Given the description of an element on the screen output the (x, y) to click on. 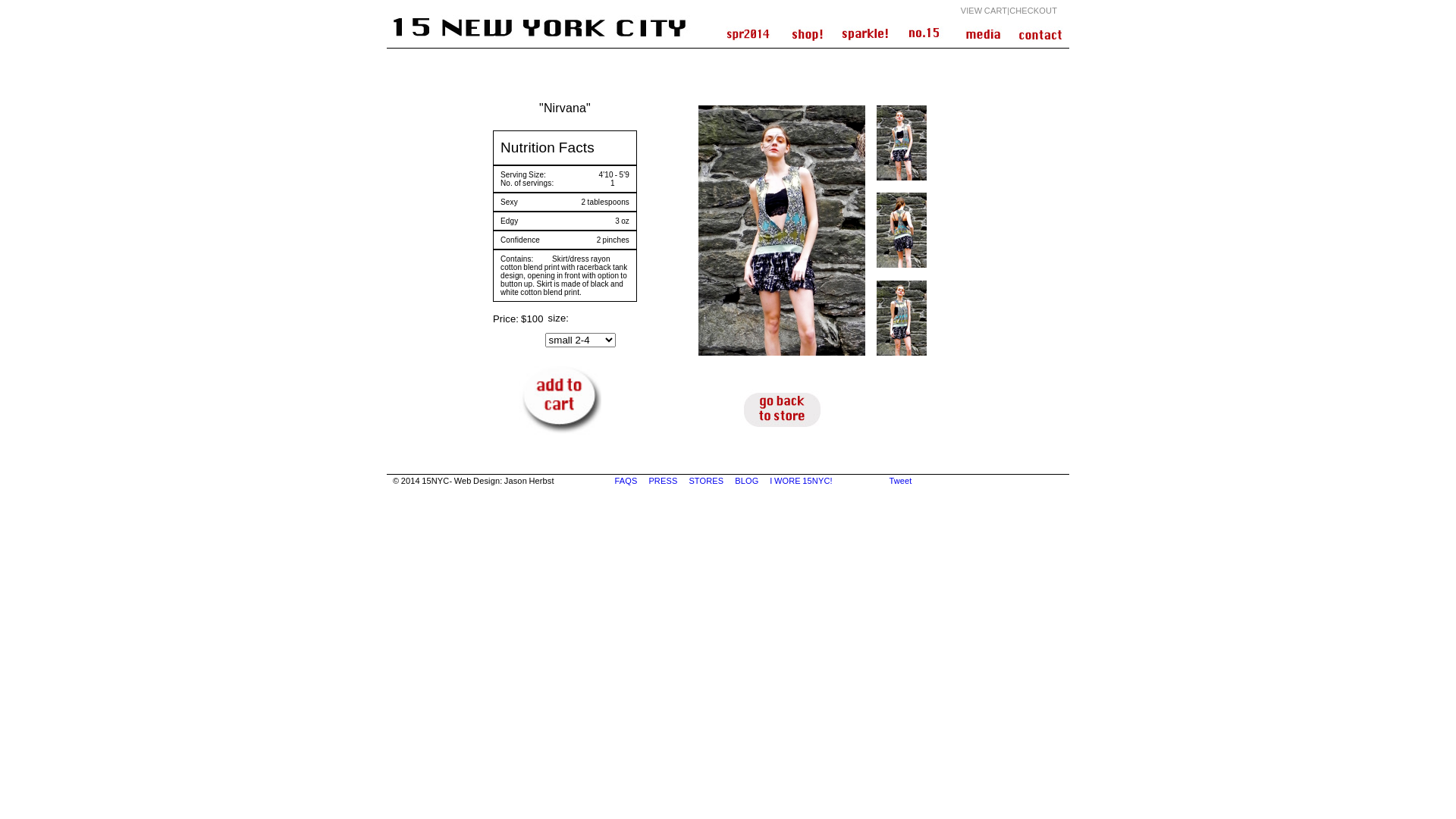
I WORE 15NYC! Element type: text (801, 480)
FAQS Element type: text (626, 480)
STORES Element type: text (706, 480)
PRESS Element type: text (663, 480)
Tweet Element type: text (899, 480)
BLOG Element type: text (747, 480)
